Given the description of an element on the screen output the (x, y) to click on. 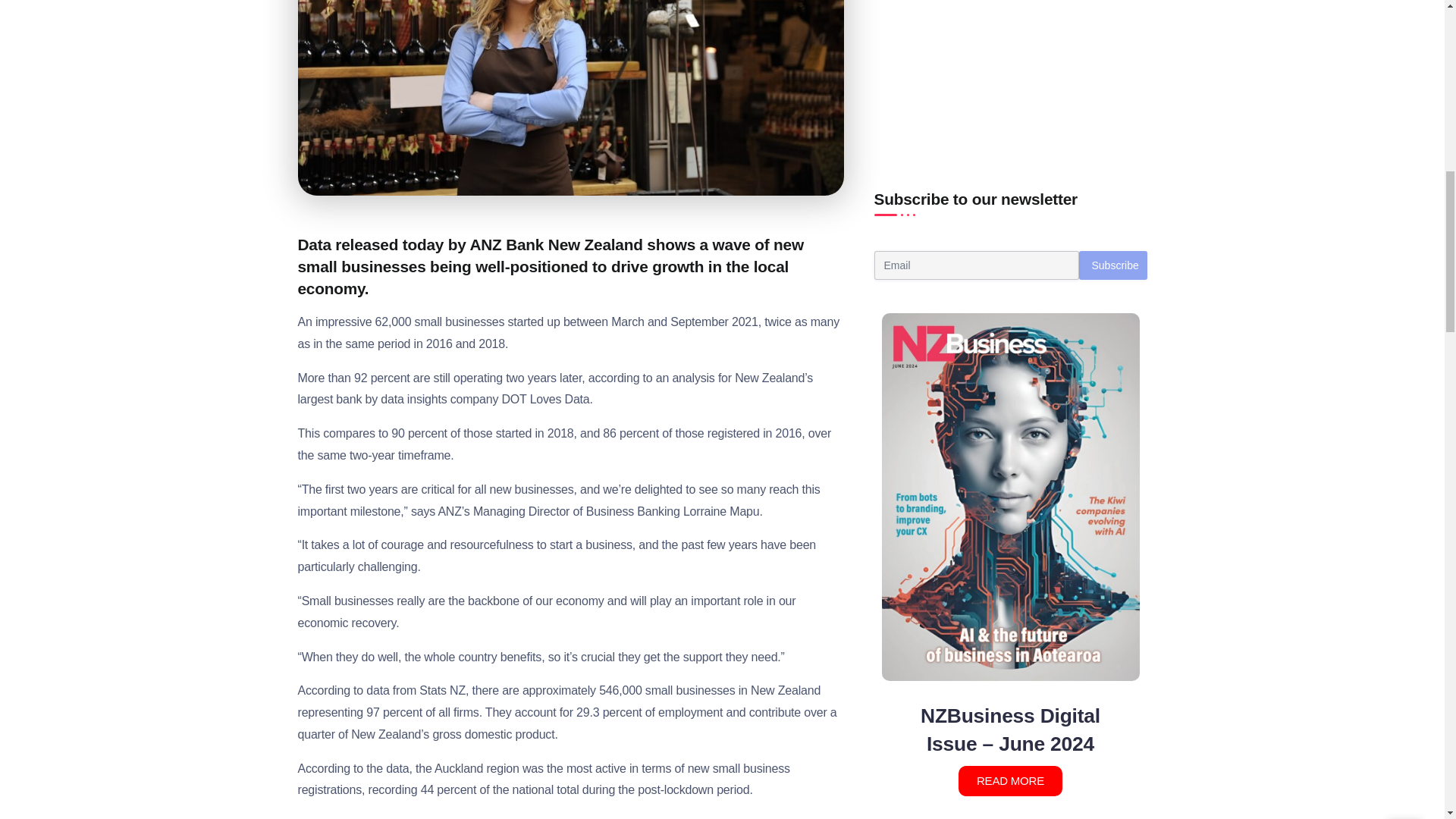
Subscribe (1112, 265)
3rd party ad content (1010, 64)
